Given the description of an element on the screen output the (x, y) to click on. 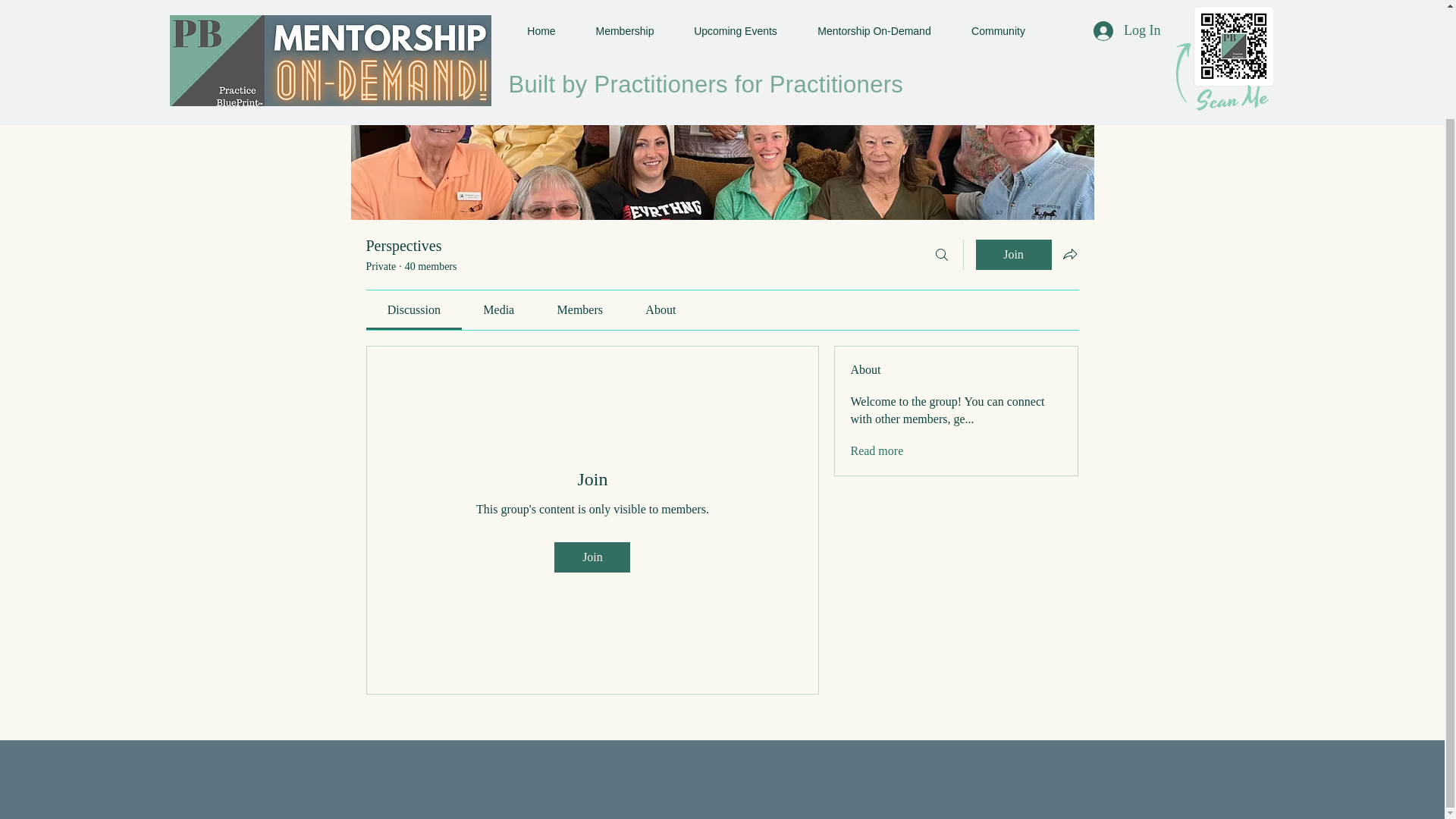
Join (592, 557)
Join (1013, 254)
Groups (437, 17)
Read more (876, 451)
Home (379, 17)
